Given the description of an element on the screen output the (x, y) to click on. 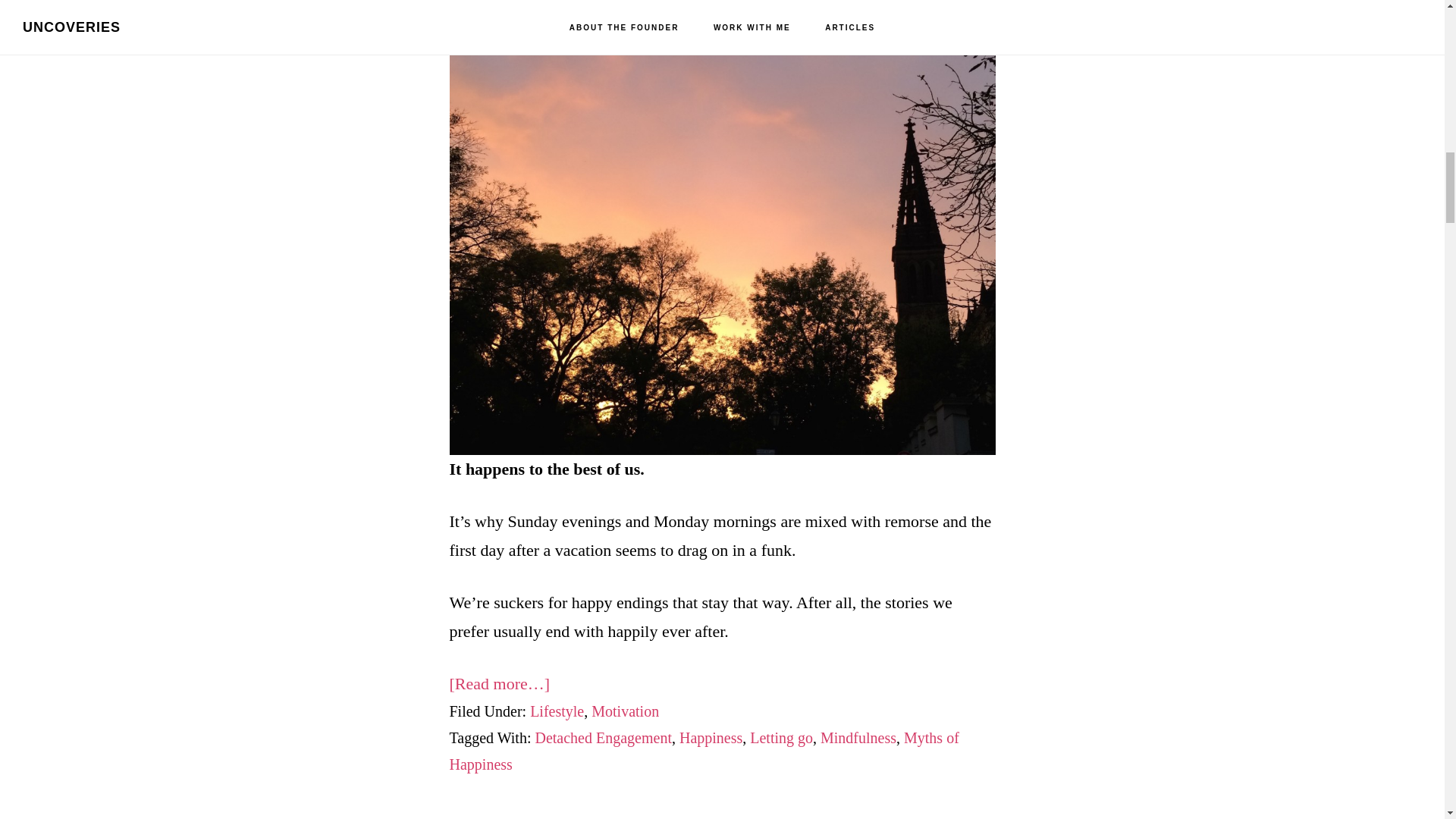
Lifestyle (556, 710)
Mindfulness (858, 737)
Myths of Happiness (703, 751)
Letting go (780, 737)
Detached Engagement (602, 737)
Happiness (710, 737)
Motivation (625, 710)
